Given the description of an element on the screen output the (x, y) to click on. 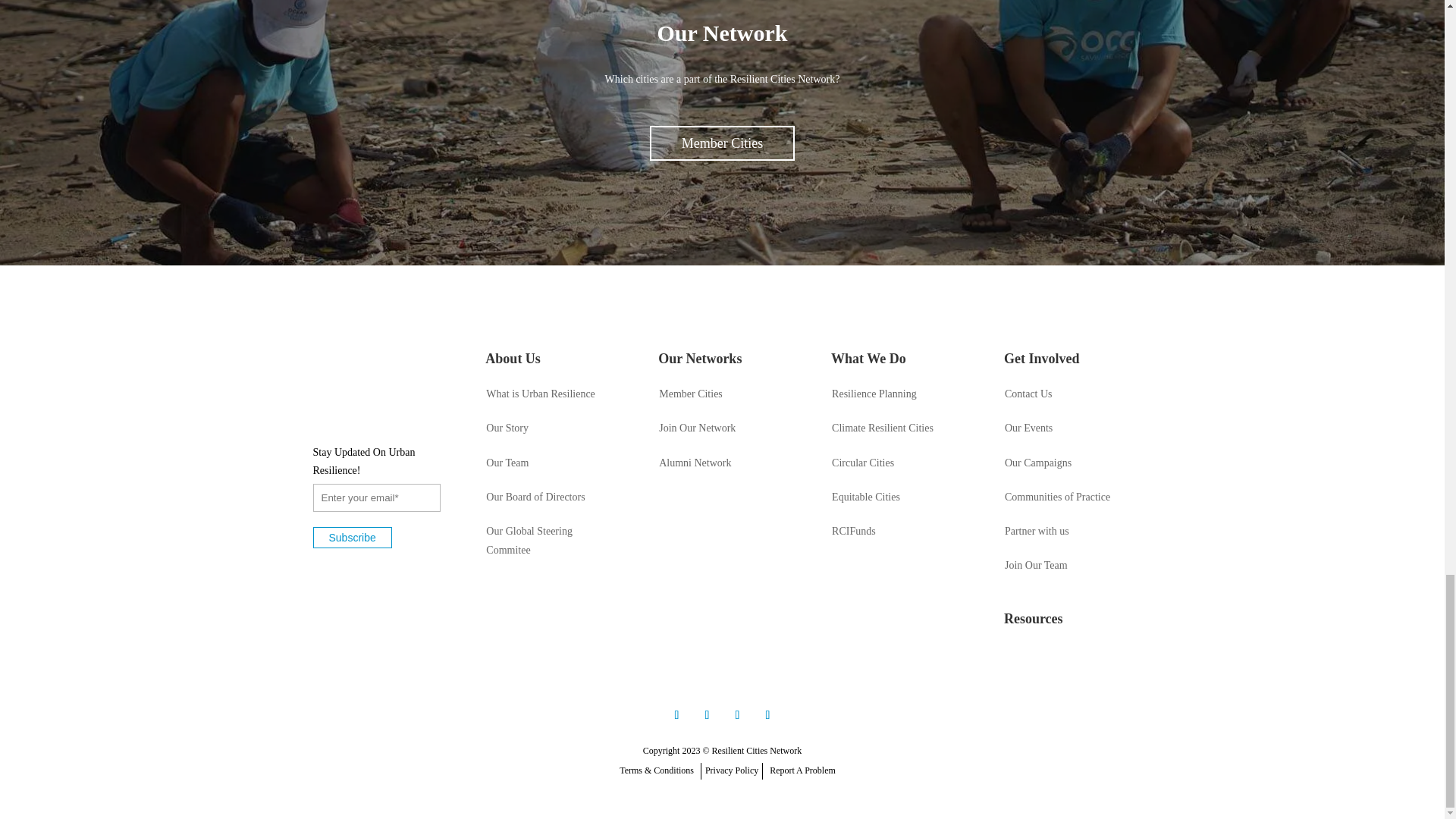
Follow on LinkedIn (706, 714)
Follow on Youtube (766, 714)
Follow on X (675, 714)
Follow on Instagram (737, 714)
